Given the description of an element on the screen output the (x, y) to click on. 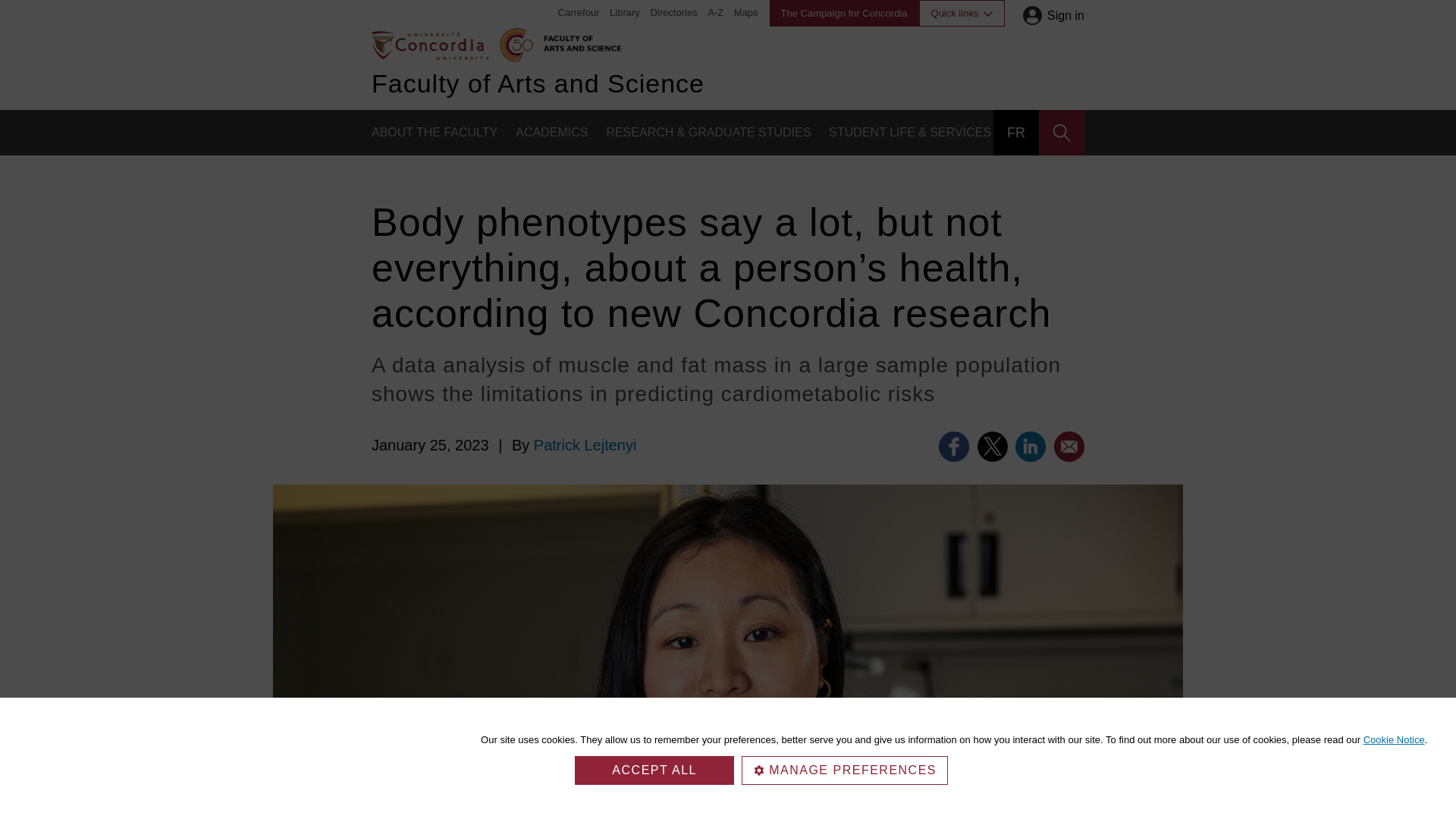
Share on Twitter (991, 446)
Library (625, 12)
Email this story (1069, 446)
Share on Facebook (954, 446)
Carrefour (578, 12)
Cookie Notice (1393, 739)
Share on LinkedIn (1029, 446)
Faculty of Arts and Science (579, 41)
Back to home (429, 44)
ACCEPT ALL (654, 769)
MANAGE PREFERENCES (844, 769)
